Given the description of an element on the screen output the (x, y) to click on. 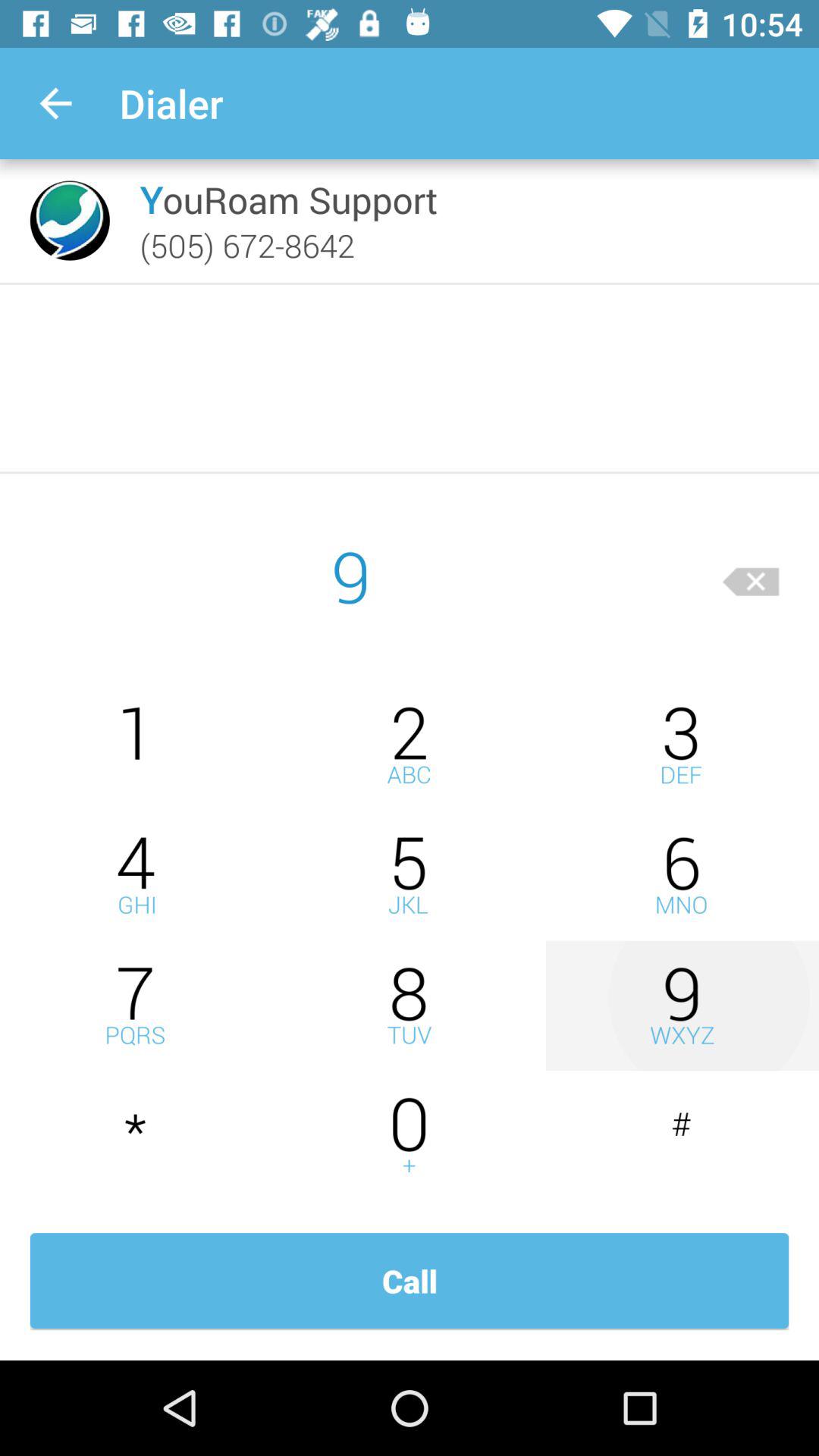
number (409, 1005)
